Given the description of an element on the screen output the (x, y) to click on. 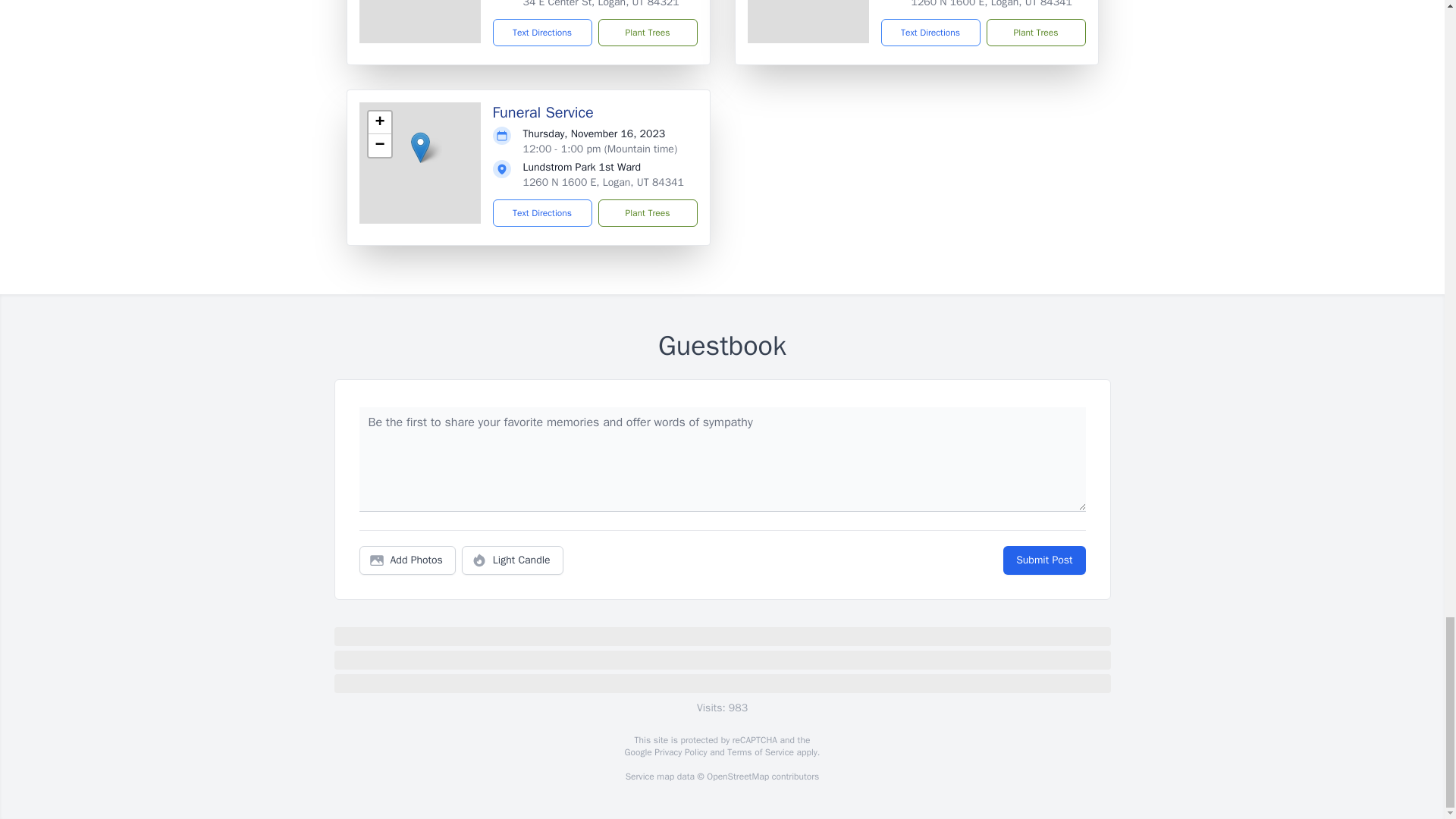
1260 N 1600 E, Logan, UT 84341 (603, 182)
Zoom in (379, 122)
Text Directions (542, 31)
1260 N 1600 E, Logan, UT 84341 (991, 4)
Plant Trees (646, 31)
34 E Center St, Logan, UT 84321 (600, 4)
Plant Trees (1034, 31)
Text Directions (929, 31)
Text Directions (542, 212)
Plant Trees (646, 212)
Zoom out (379, 145)
